Given the description of an element on the screen output the (x, y) to click on. 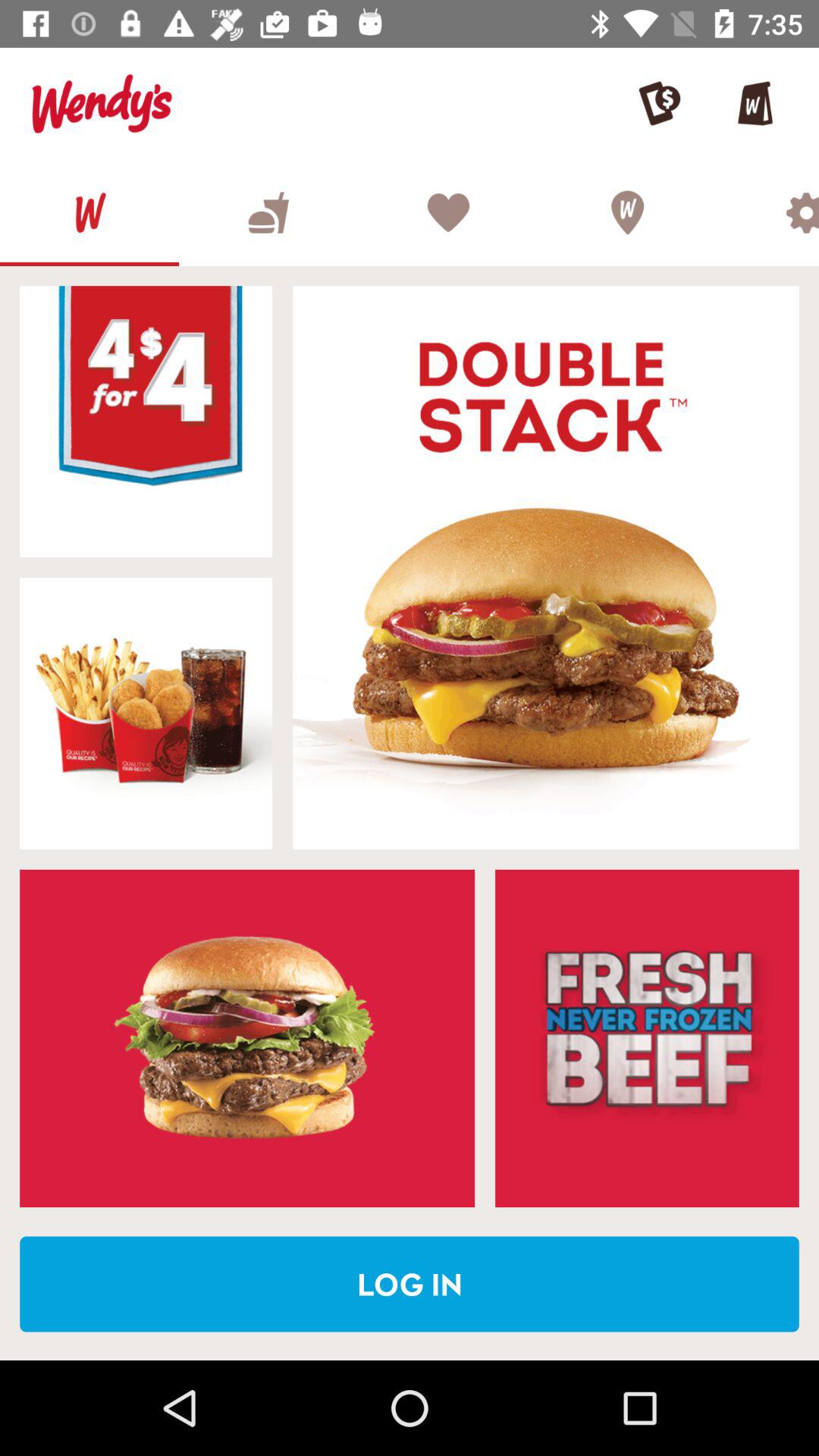
click the log in icon (409, 1284)
